Given the description of an element on the screen output the (x, y) to click on. 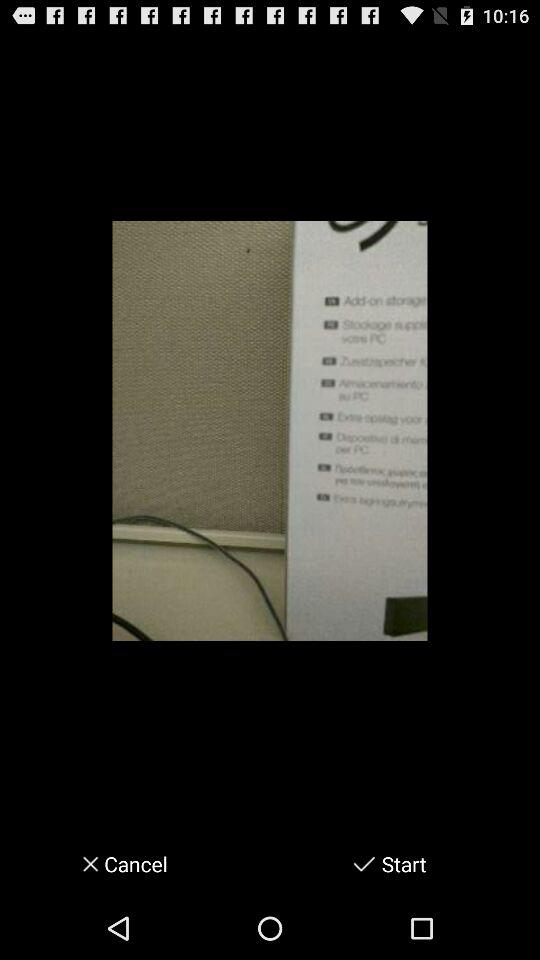
cancel (83, 864)
